Given the description of an element on the screen output the (x, y) to click on. 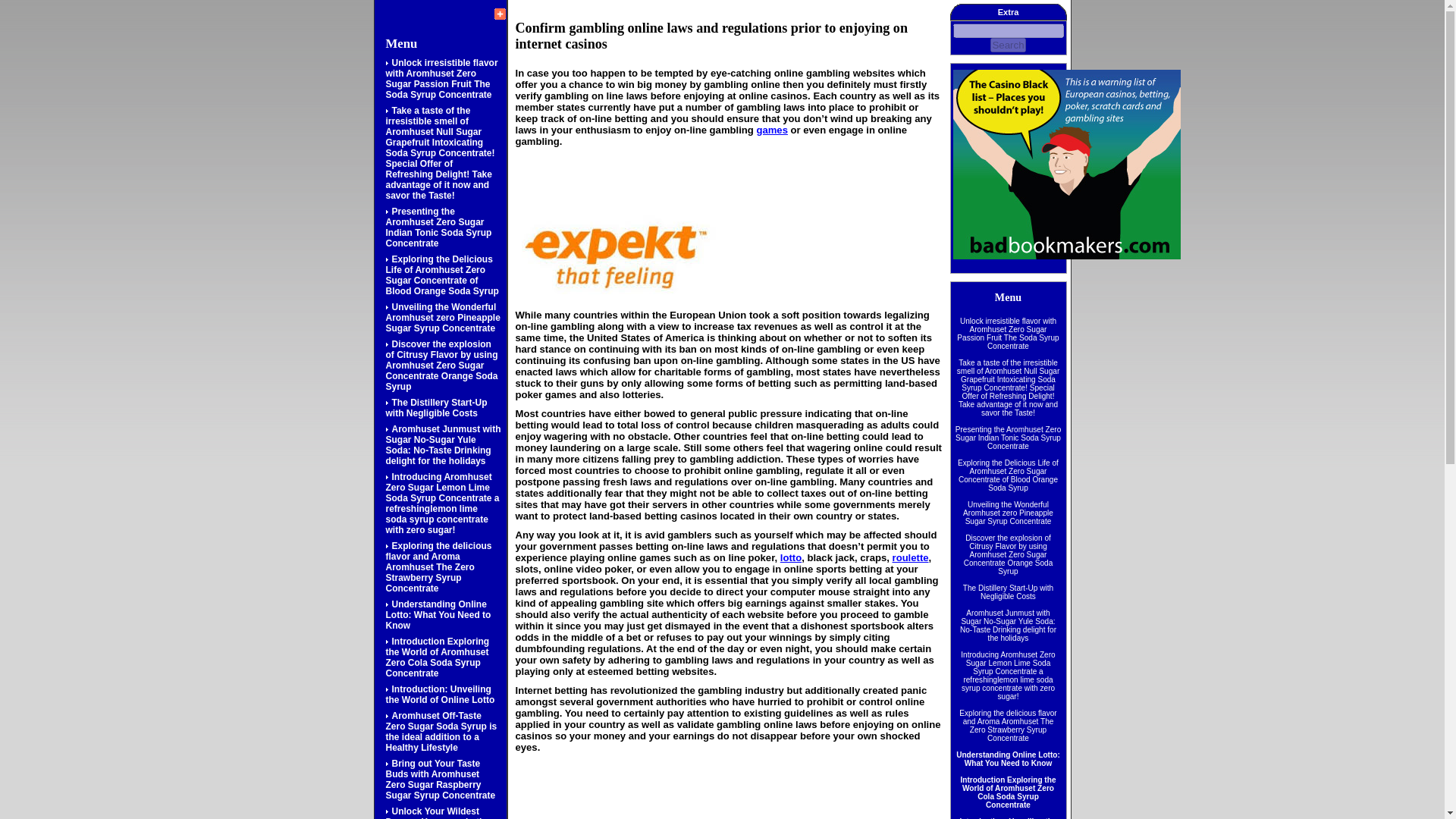
lotto (791, 557)
games (771, 129)
